Given the description of an element on the screen output the (x, y) to click on. 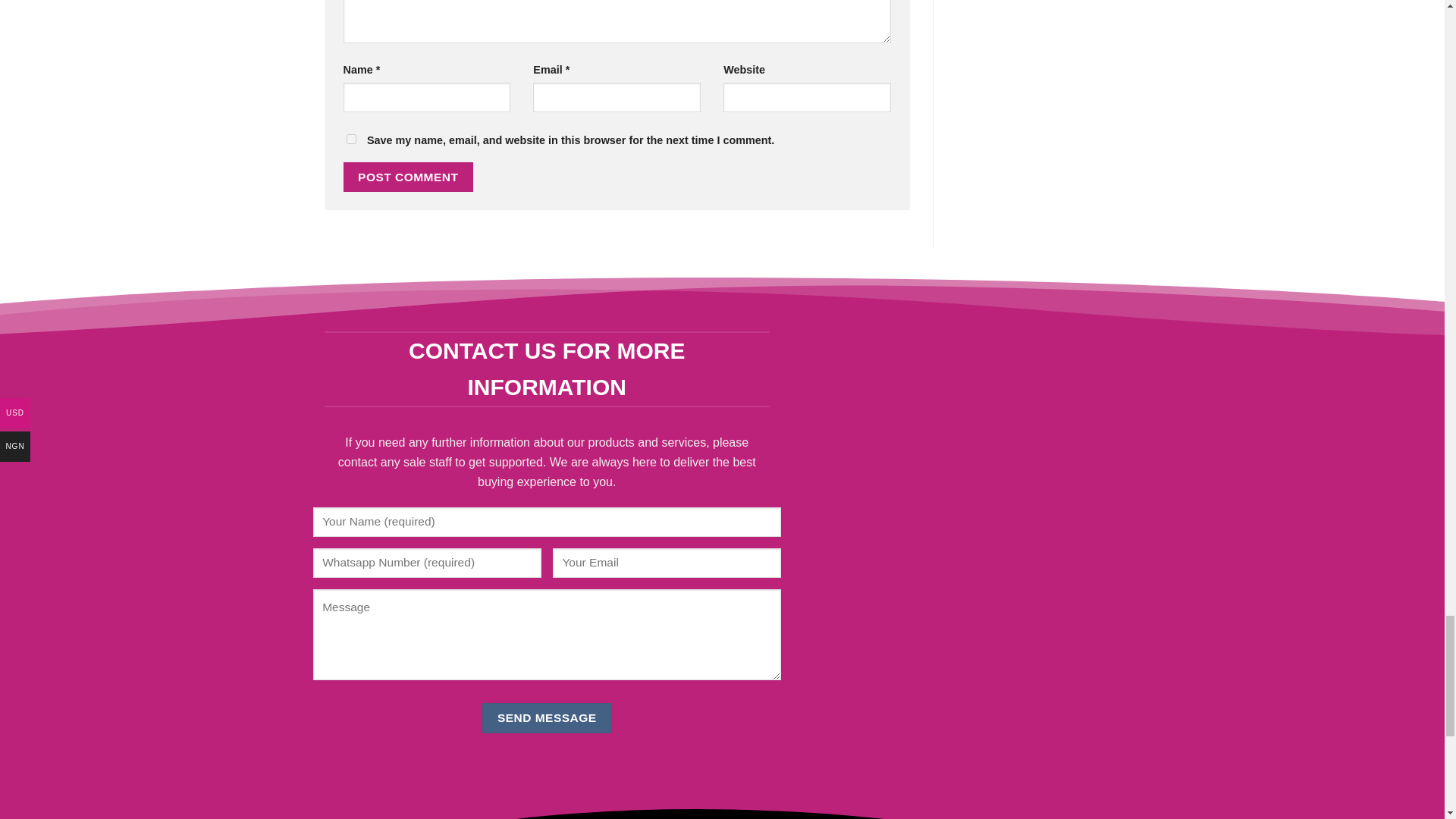
Post Comment (407, 176)
yes (350, 139)
Send message (546, 717)
